Given the description of an element on the screen output the (x, y) to click on. 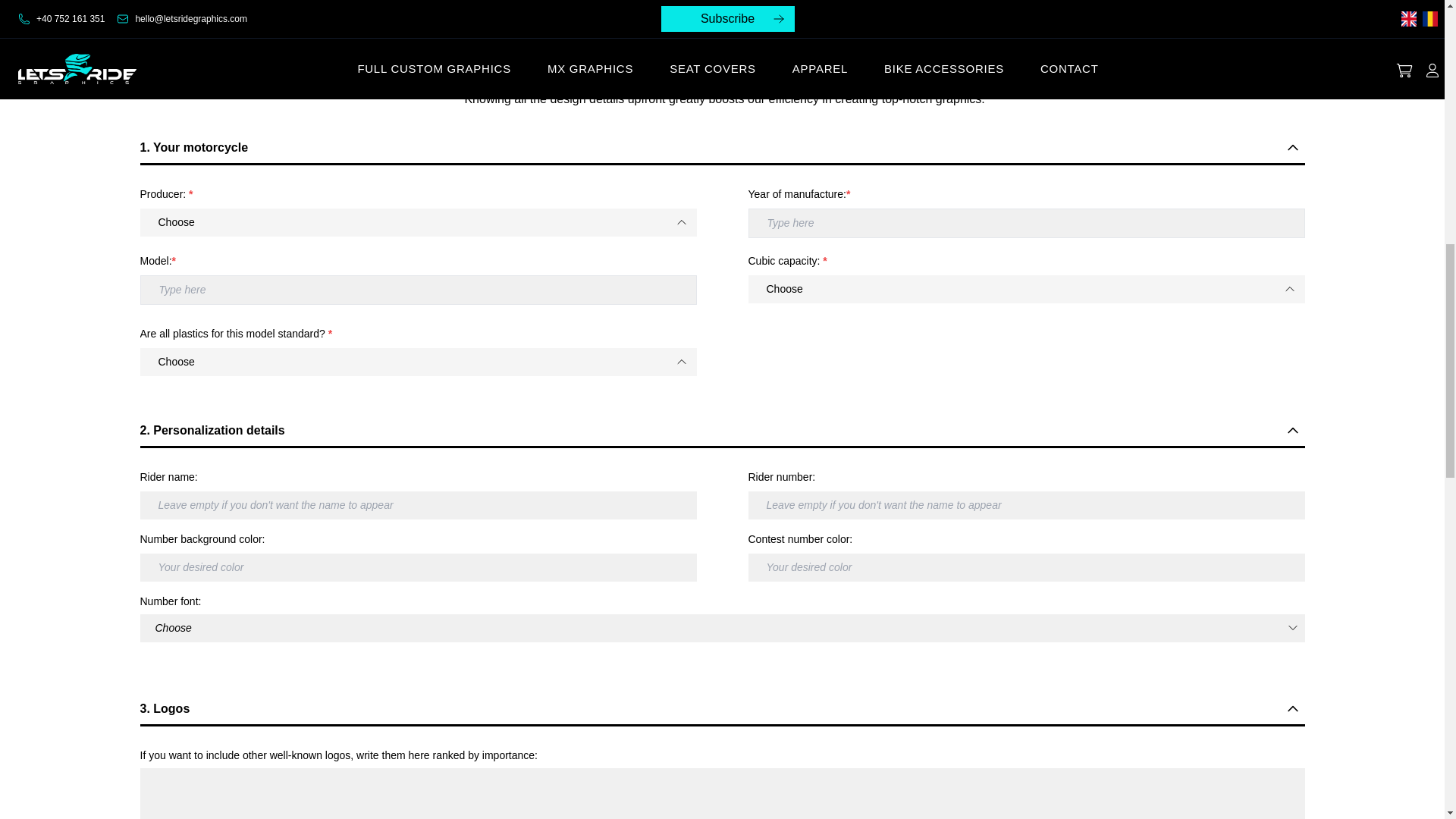
2. Personalization details (721, 431)
1. Your motorcycle (721, 147)
3. Logos (721, 708)
